Given the description of an element on the screen output the (x, y) to click on. 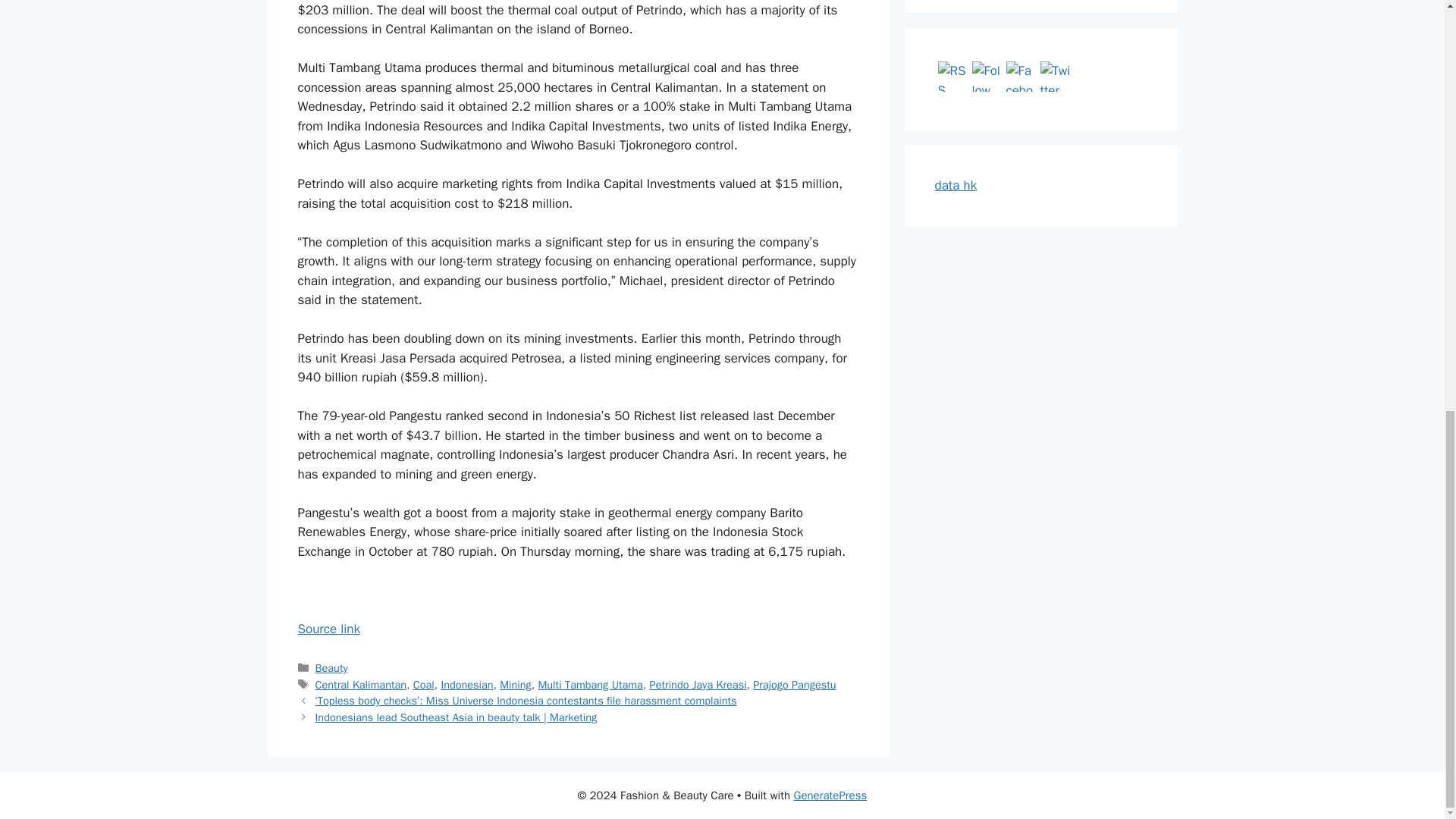
Beauty (331, 667)
Source link (328, 628)
Follow by Email (987, 76)
Multi Tambang Utama (589, 684)
Central Kalimantan (361, 684)
Prajogo Pangestu (793, 684)
Coal (423, 684)
Indonesian (467, 684)
Twitter (1055, 76)
Mining (515, 684)
